Given the description of an element on the screen output the (x, y) to click on. 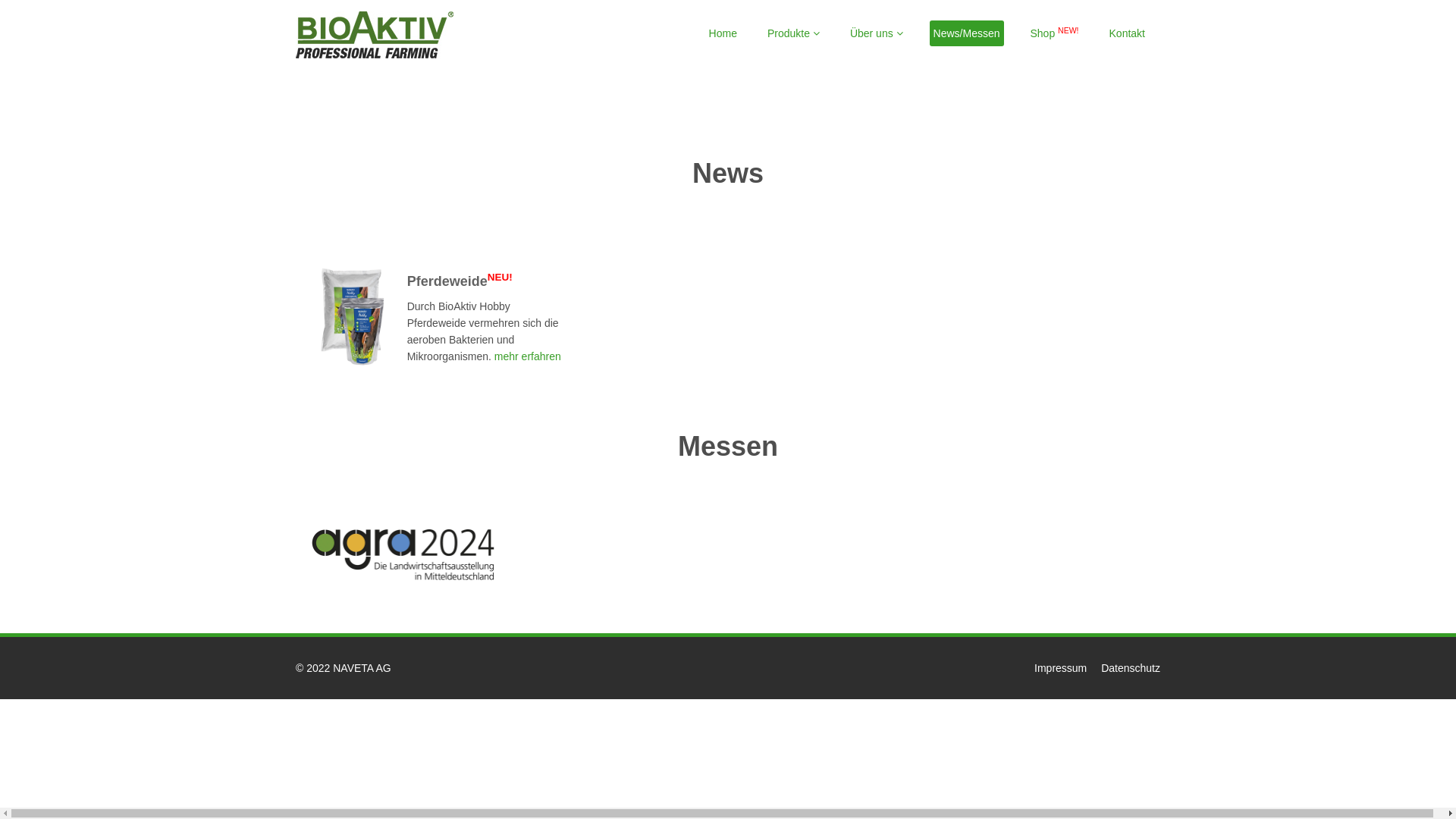
Home Element type: text (722, 33)
Produkte Element type: text (793, 33)
Shop NEW! Element type: text (1054, 33)
Impressum Element type: text (1060, 668)
Datenschutz Element type: text (1130, 668)
mehr erfahren Element type: text (526, 356)
News/Messen Element type: text (966, 33)
Kontakt Element type: text (1126, 33)
